Given the description of an element on the screen output the (x, y) to click on. 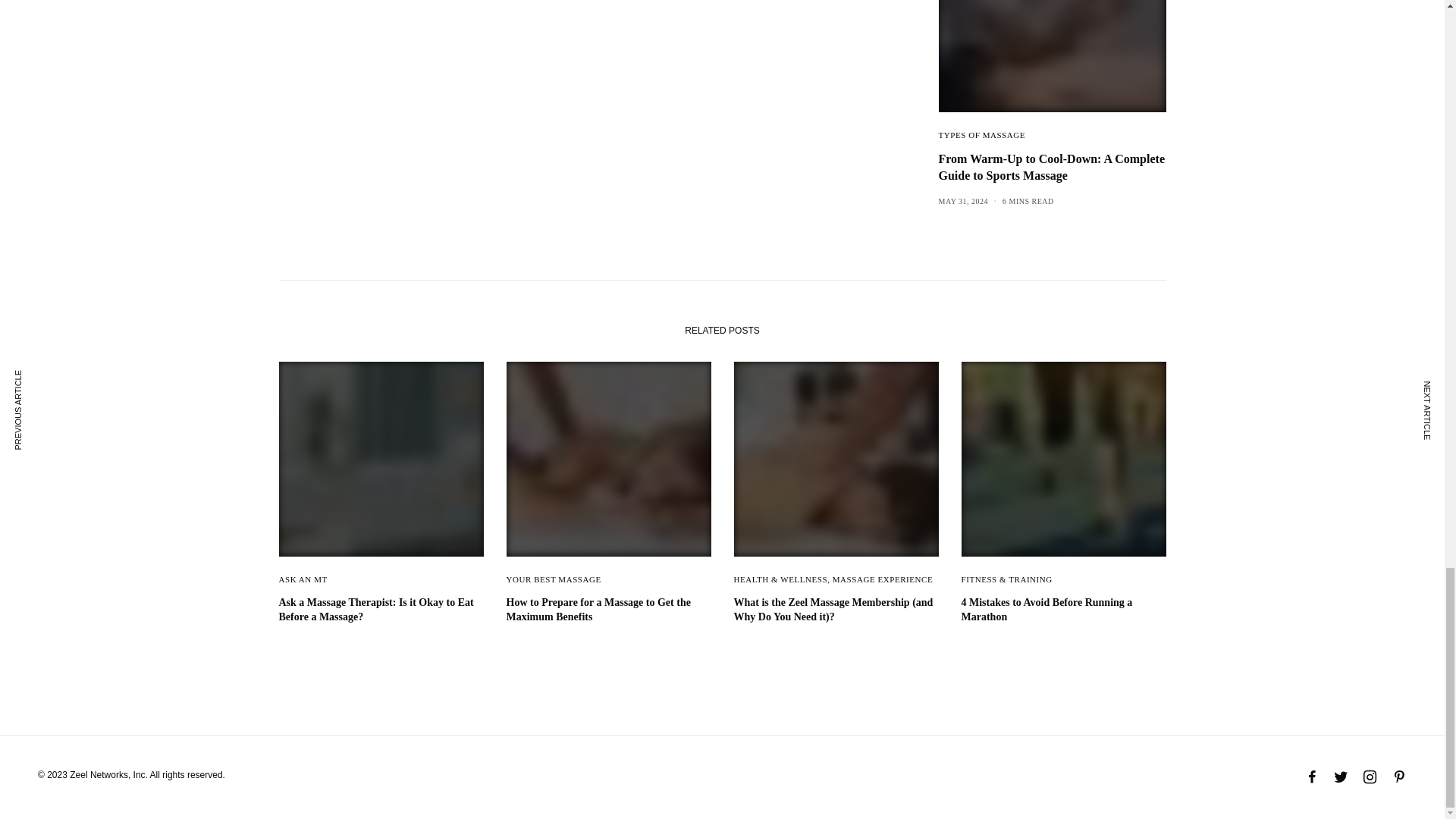
Ask a Massage Therapist: Is it Okay to Eat Before a Massage? (381, 609)
How to Prepare for a Massage to Get the Maximum Benefits (608, 609)
